Given the description of an element on the screen output the (x, y) to click on. 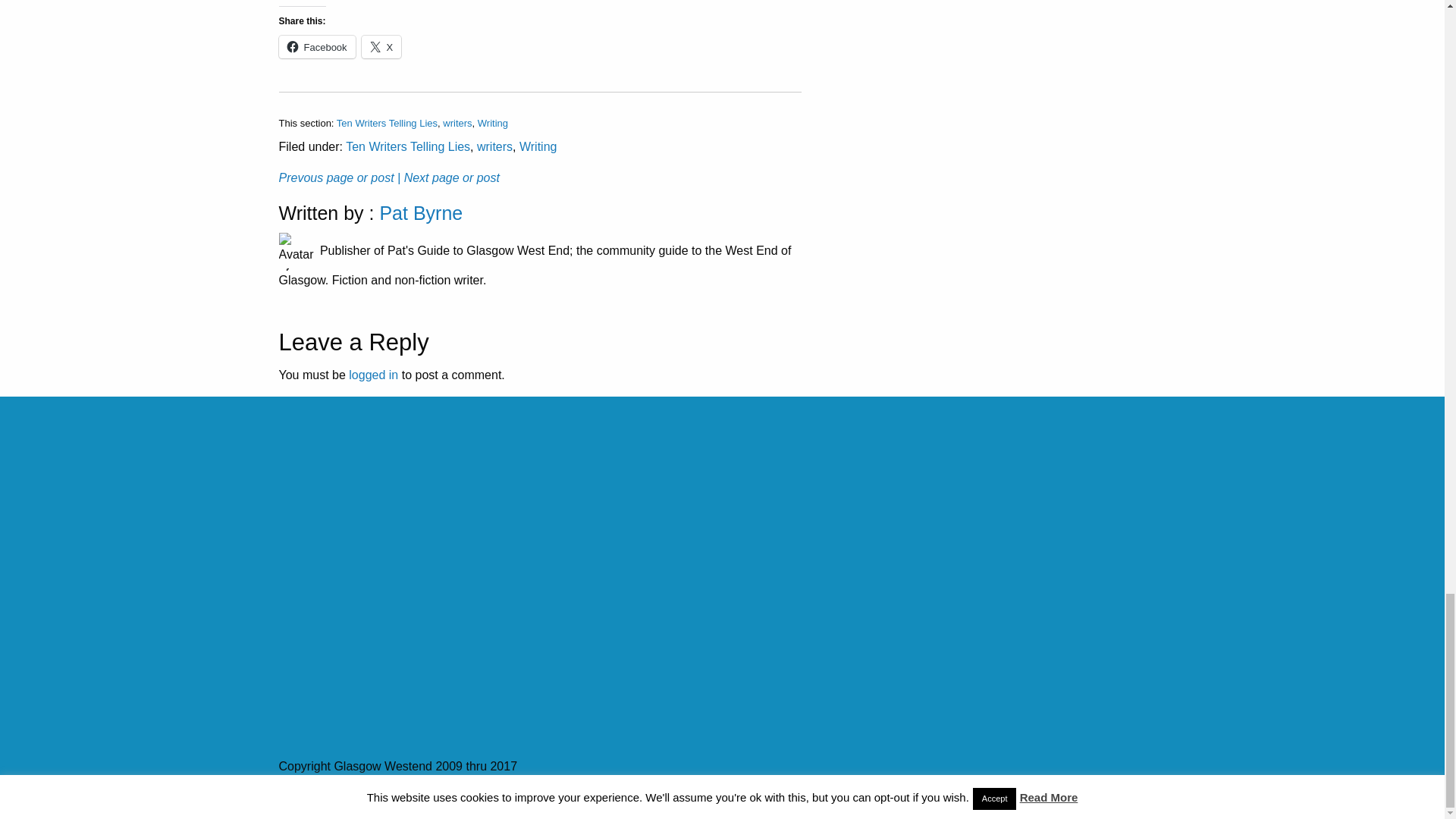
Prevous page or post (336, 177)
Facebook (317, 47)
writers (494, 146)
Writing (538, 146)
X (381, 47)
writers (456, 122)
Click to share on Facebook (317, 47)
Ten Writers Telling Lies (387, 122)
Pat Byrne (420, 212)
Posts by Pat Byrne (420, 212)
